Given the description of an element on the screen output the (x, y) to click on. 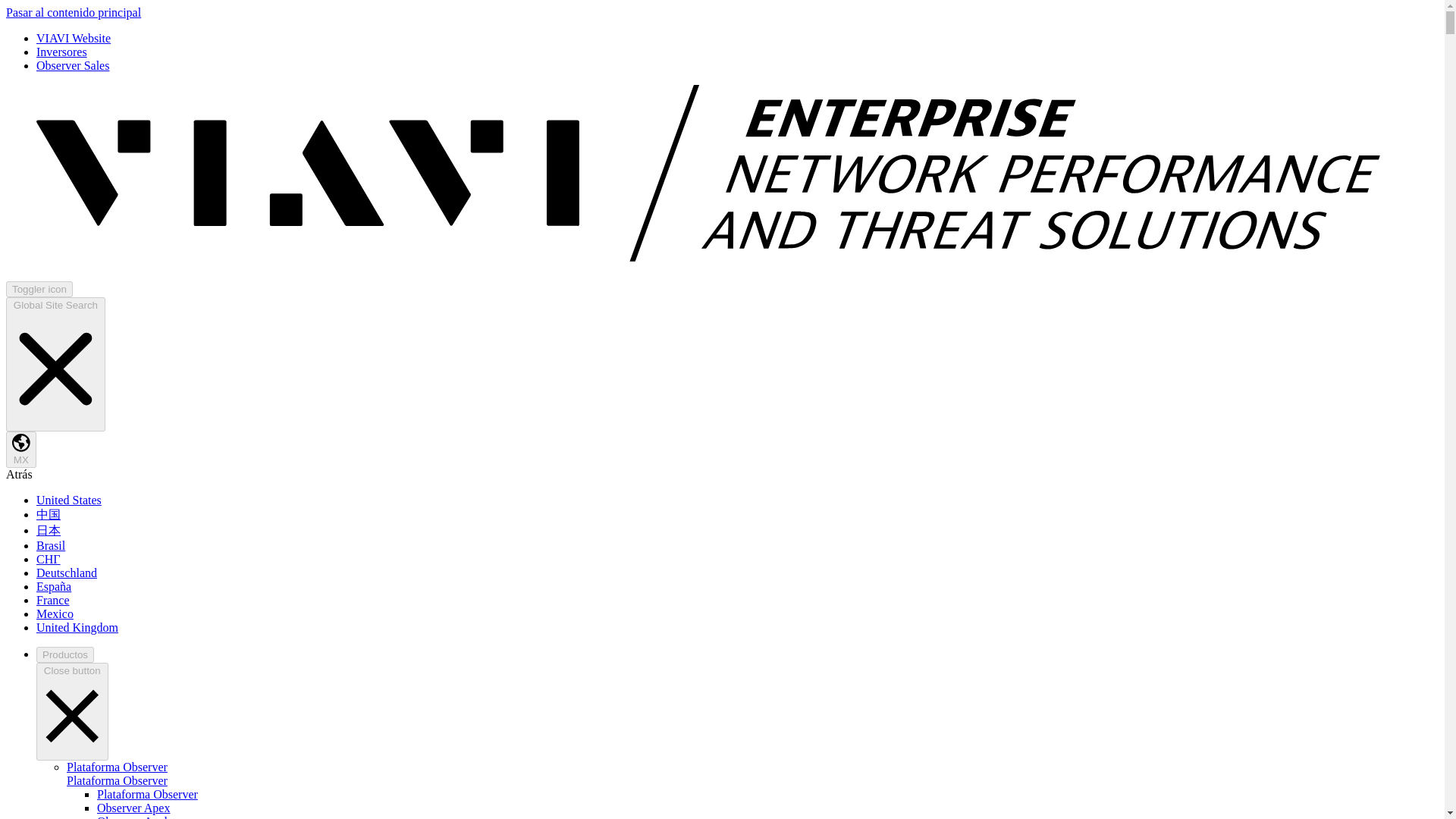
Brasil (50, 545)
Observer Analyzer (142, 816)
Close button (71, 711)
United States (68, 499)
MX (20, 449)
Observer Apex (133, 807)
France (52, 599)
VIAVI Website (73, 38)
Mexico (55, 613)
Global Site Search (54, 364)
Observer Sales (72, 65)
Pasar al contenido principal (73, 11)
